Given the description of an element on the screen output the (x, y) to click on. 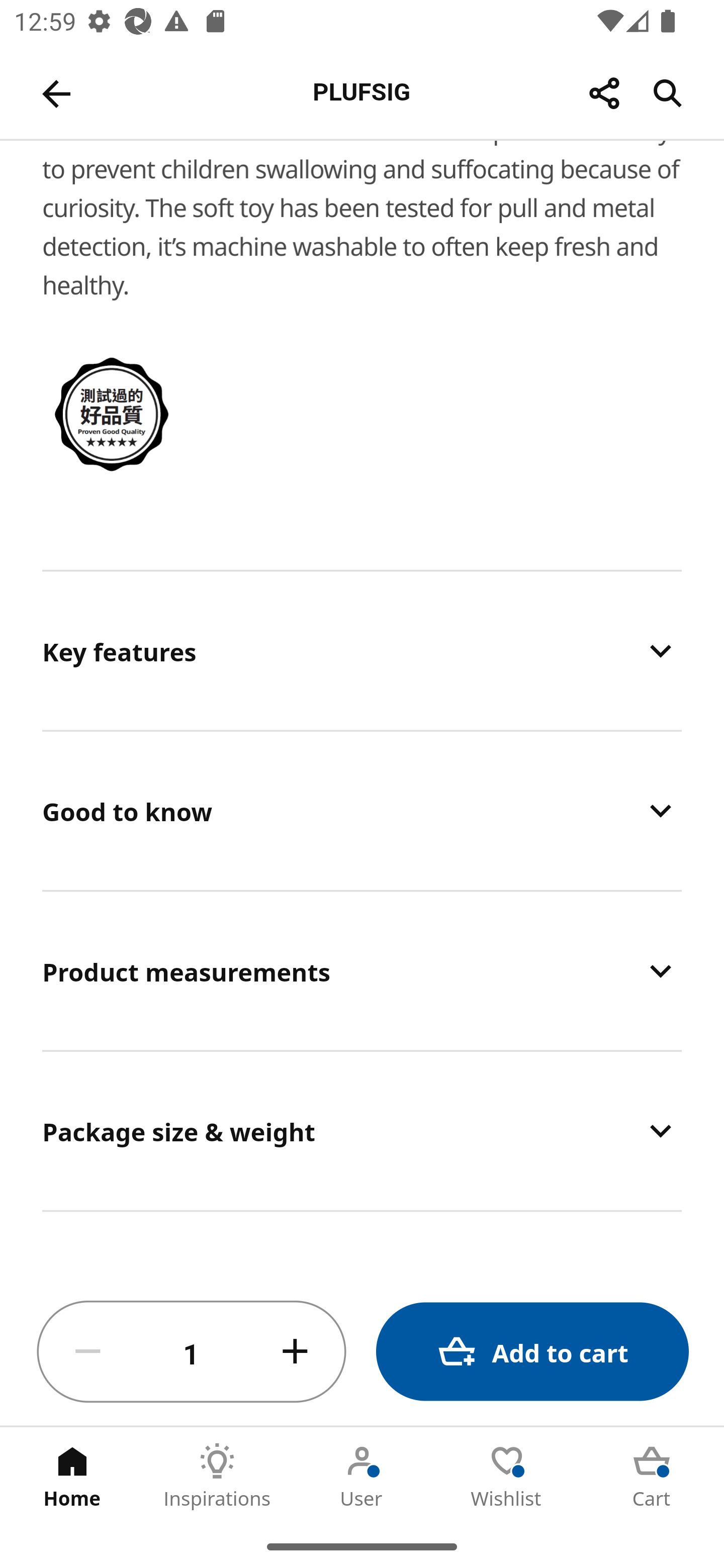
Key features (361, 650)
Good to know (361, 810)
Product measurements (361, 970)
Package size & weight (361, 1130)
Add to cart (531, 1352)
1 (191, 1352)
Home
Tab 1 of 5 (72, 1476)
Inspirations
Tab 2 of 5 (216, 1476)
User
Tab 3 of 5 (361, 1476)
Wishlist
Tab 4 of 5 (506, 1476)
Cart
Tab 5 of 5 (651, 1476)
